Given the description of an element on the screen output the (x, y) to click on. 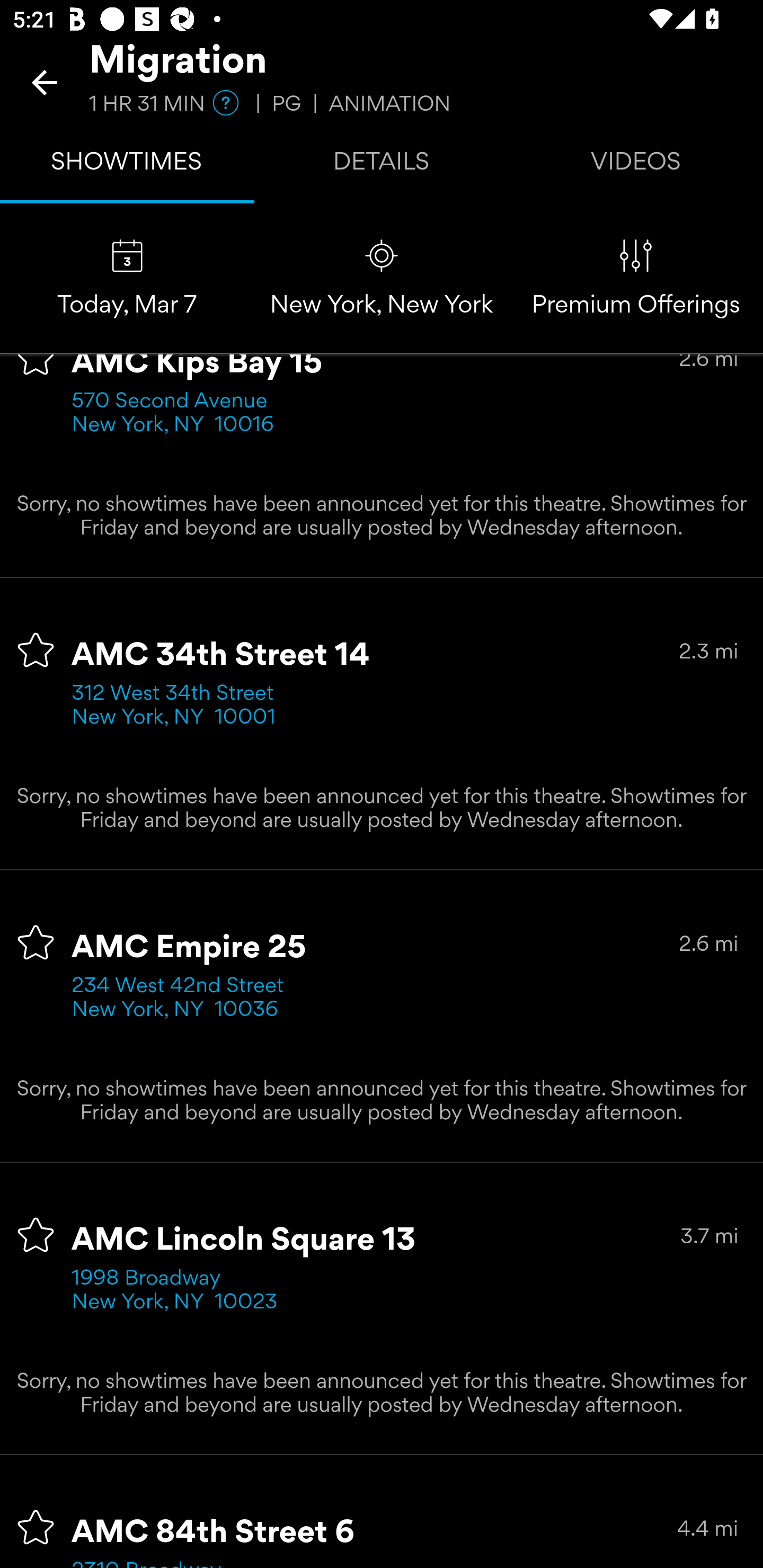
Back (44, 82)
SHOWTIMES
Tab 1 of 3 (127, 165)
DETAILS
Tab 2 of 3 (381, 165)
VIDEOS
Tab 3 of 3 (635, 165)
Change selected day
Today, Mar 7 (127, 279)
Change location
New York, New York (381, 279)
Premium Offerings
Premium Offerings (635, 279)
AMC Kips Bay 15 (196, 368)
570 Second Avenue  
New York, NY  10016 (175, 413)
AMC 34th Street 14 (220, 656)
312 West 34th Street  
New York, NY  10001 (178, 706)
AMC Empire 25 (188, 948)
234 West 42nd Street  
New York, NY  10036 (183, 998)
AMC Lincoln Square 13 (243, 1241)
1998 Broadway  
New York, NY  10023 (174, 1290)
AMC 84th Street 6 (213, 1533)
